Given the description of an element on the screen output the (x, y) to click on. 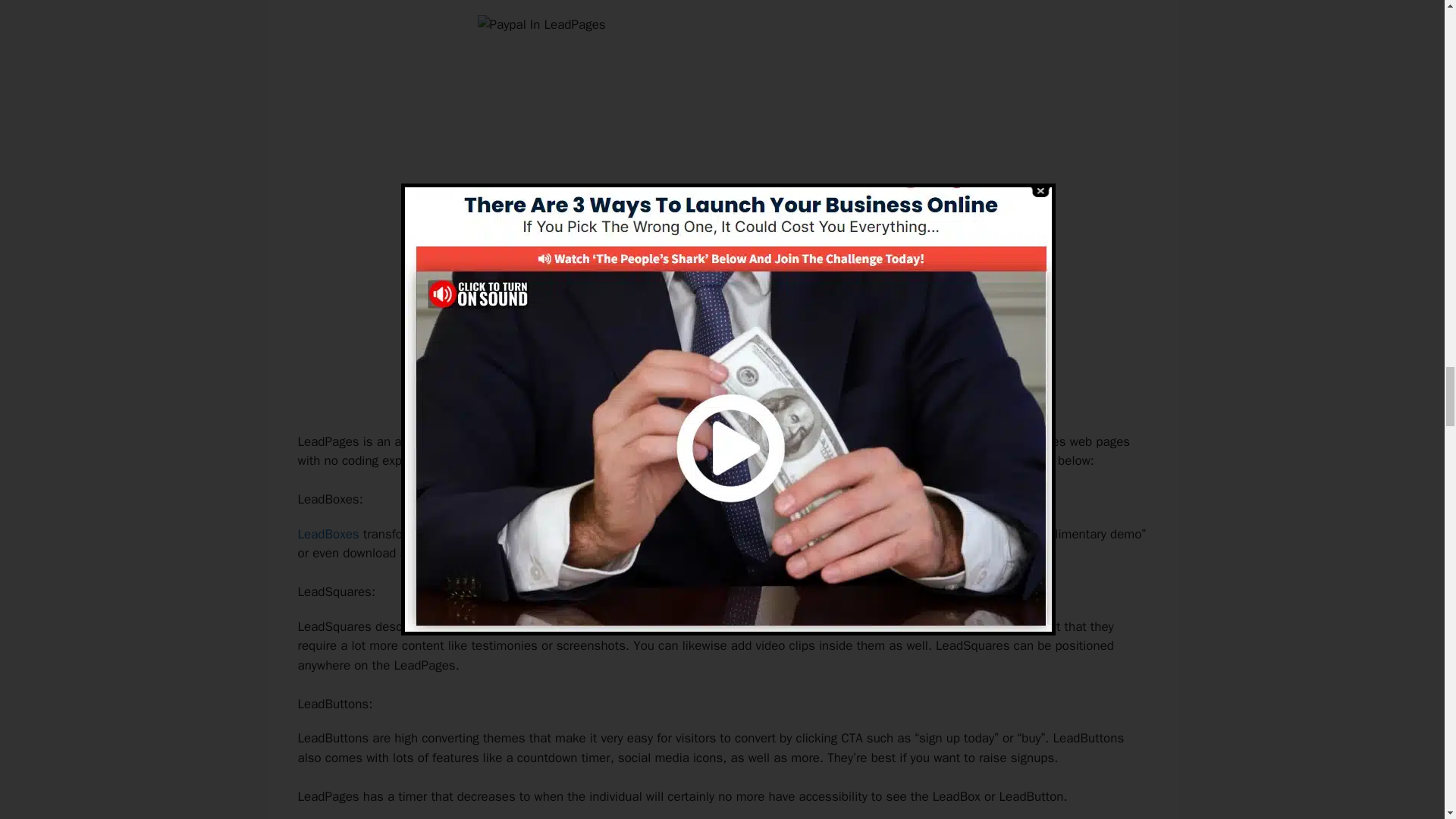
landing page (485, 441)
Get Your Desire Templates Here (721, 389)
LeadBoxes (327, 534)
